Given the description of an element on the screen output the (x, y) to click on. 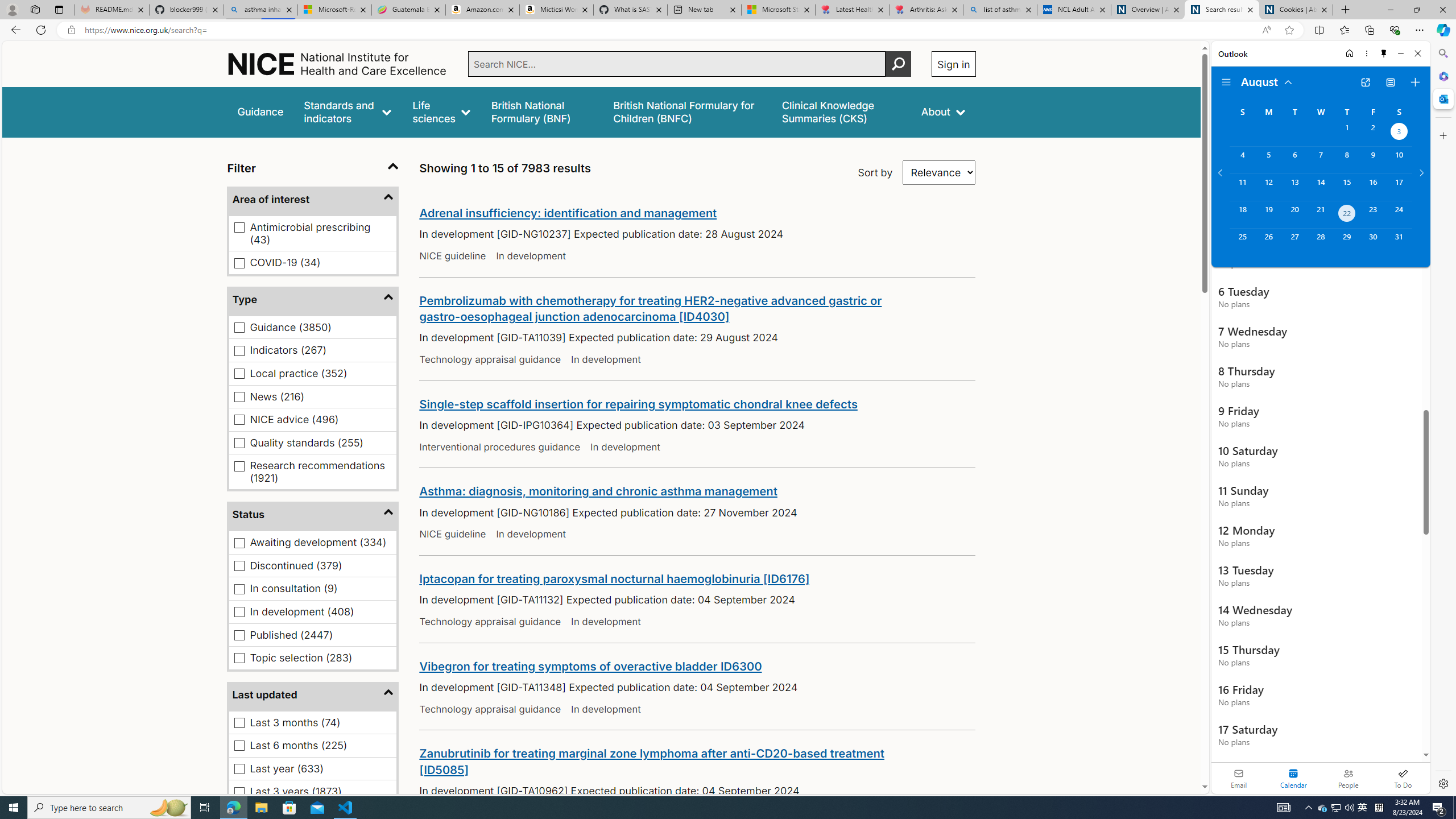
Sign in (952, 63)
Local practice (352) (239, 373)
Monday, August 5, 2024.  (1268, 159)
Home (337, 63)
Folder navigation (1225, 82)
